Given the description of an element on the screen output the (x, y) to click on. 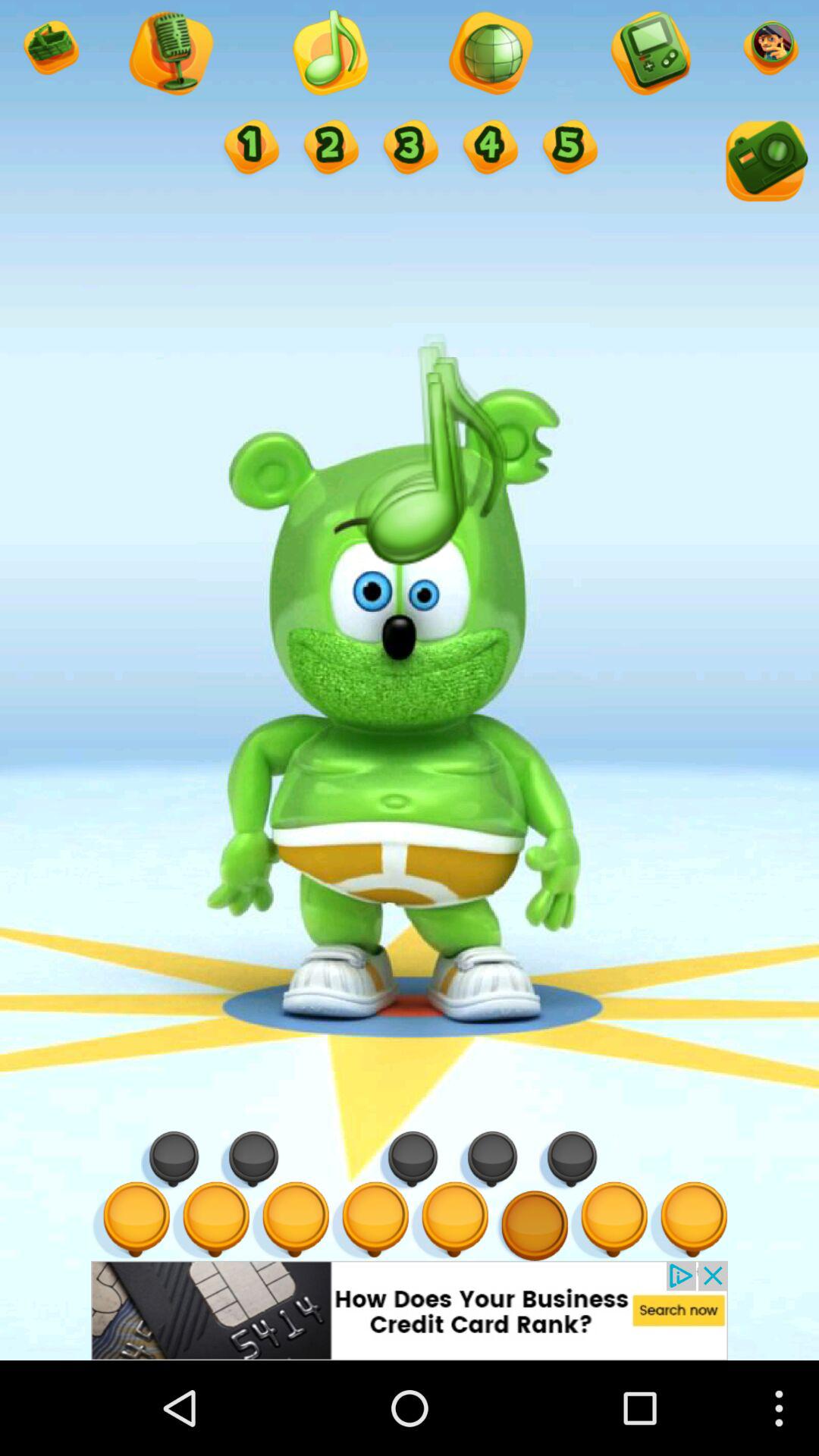
select number 4 (488, 149)
